Given the description of an element on the screen output the (x, y) to click on. 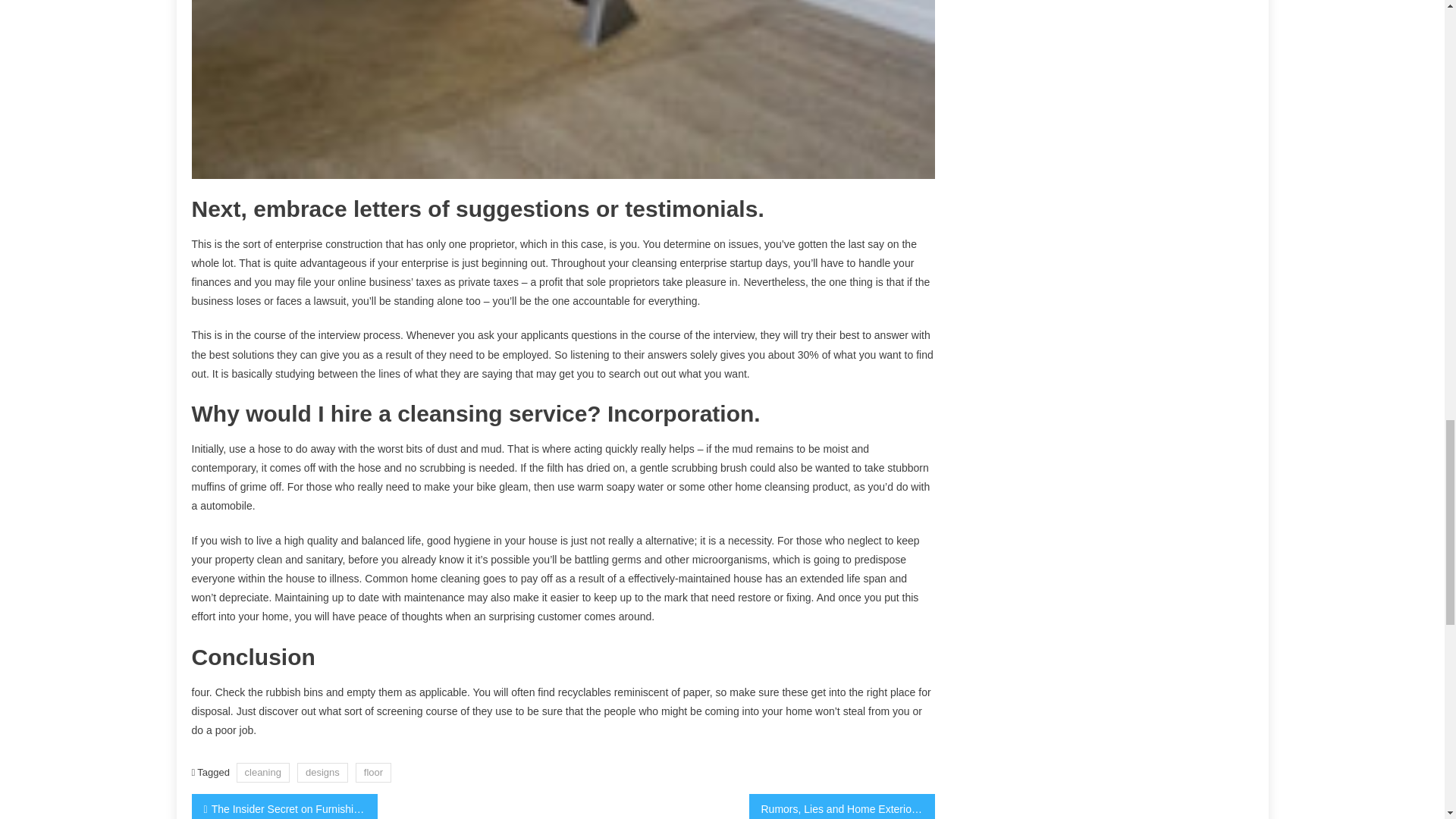
The Insider Secret on Furnishing Found (283, 806)
floor (373, 772)
cleaning (262, 772)
designs (322, 772)
